Given the description of an element on the screen output the (x, y) to click on. 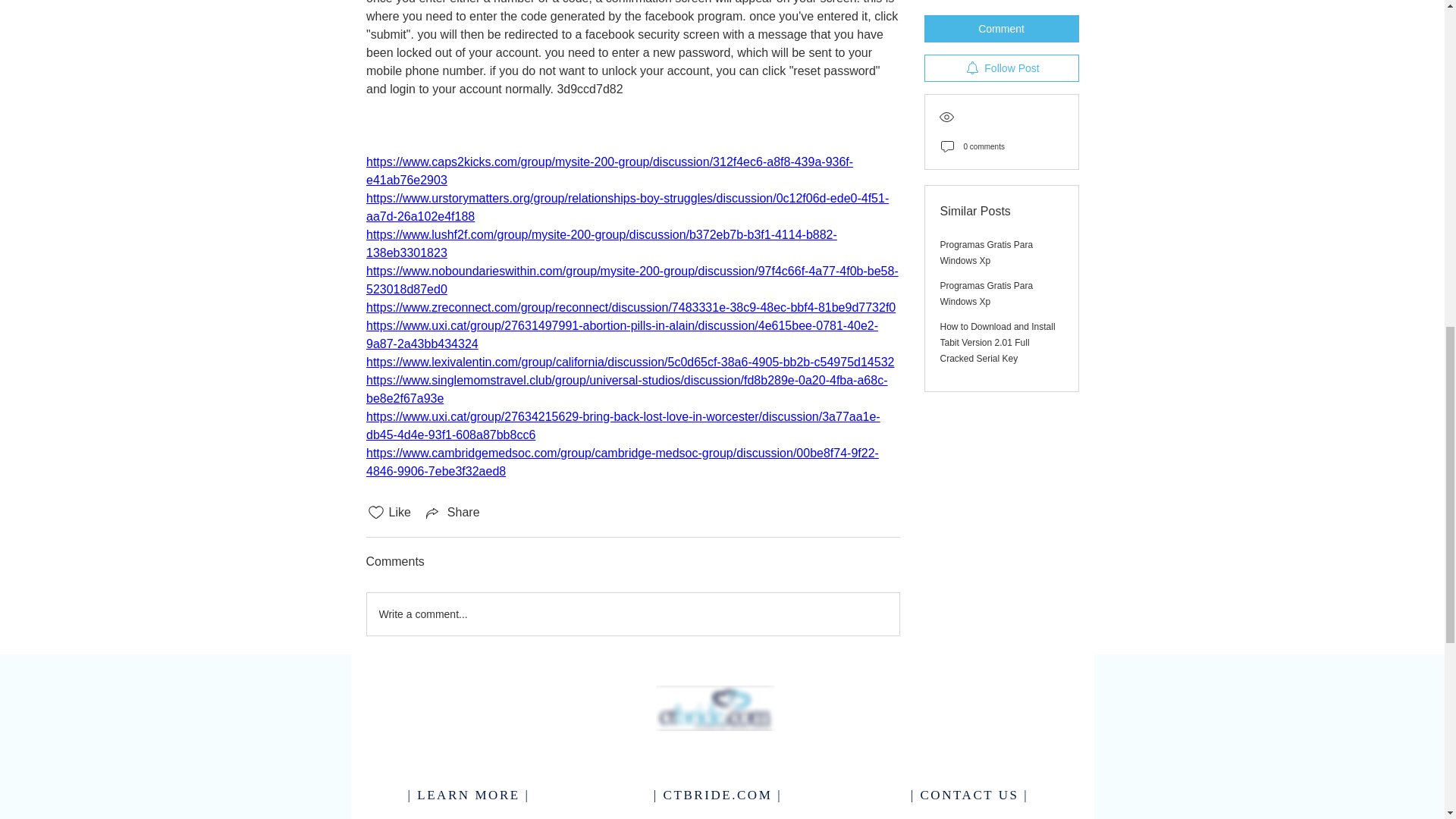
Write a comment... (632, 613)
Share (451, 512)
